Given the description of an element on the screen output the (x, y) to click on. 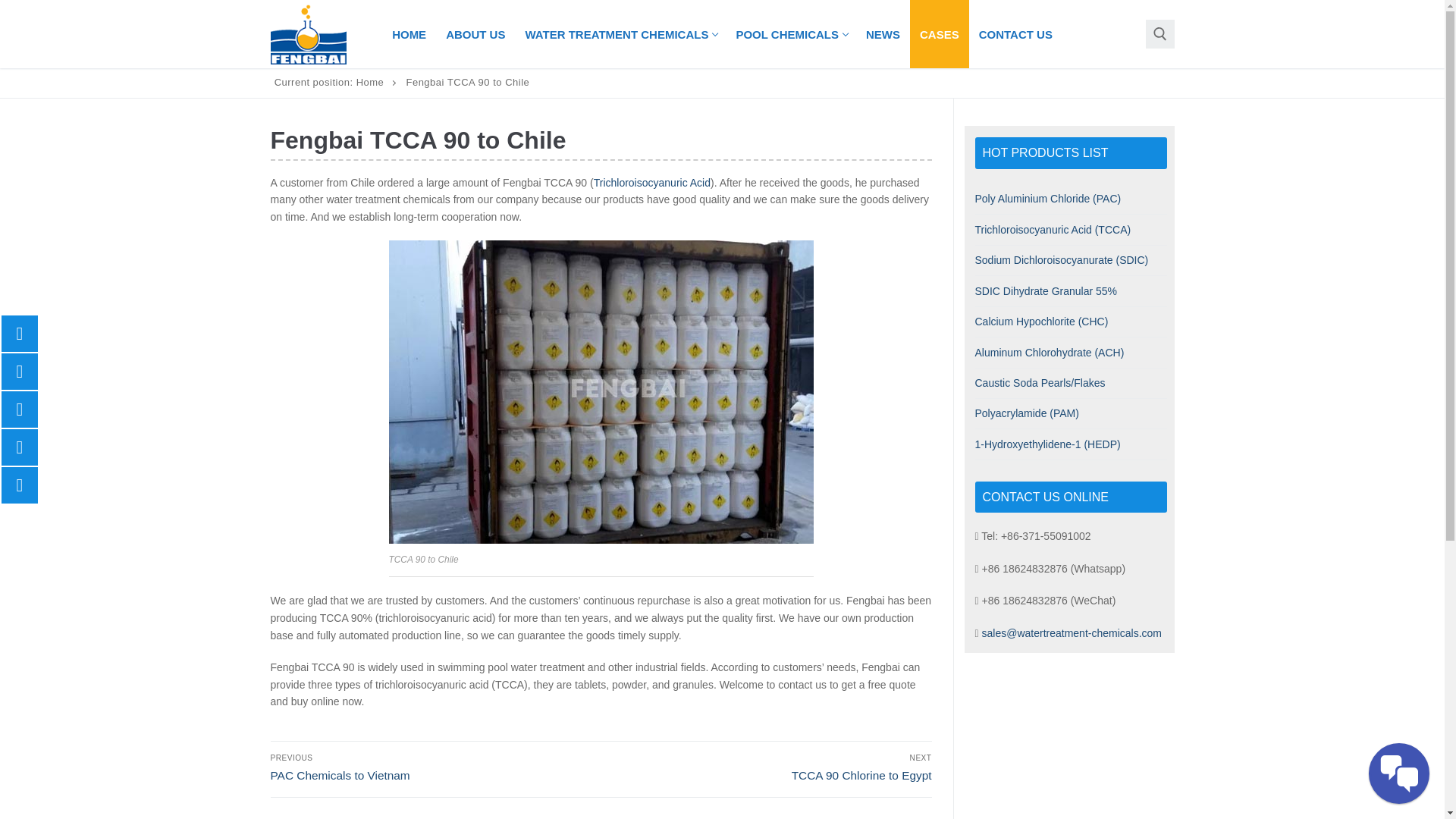
CONTACT US (620, 33)
ABOUT US (790, 33)
